Given the description of an element on the screen output the (x, y) to click on. 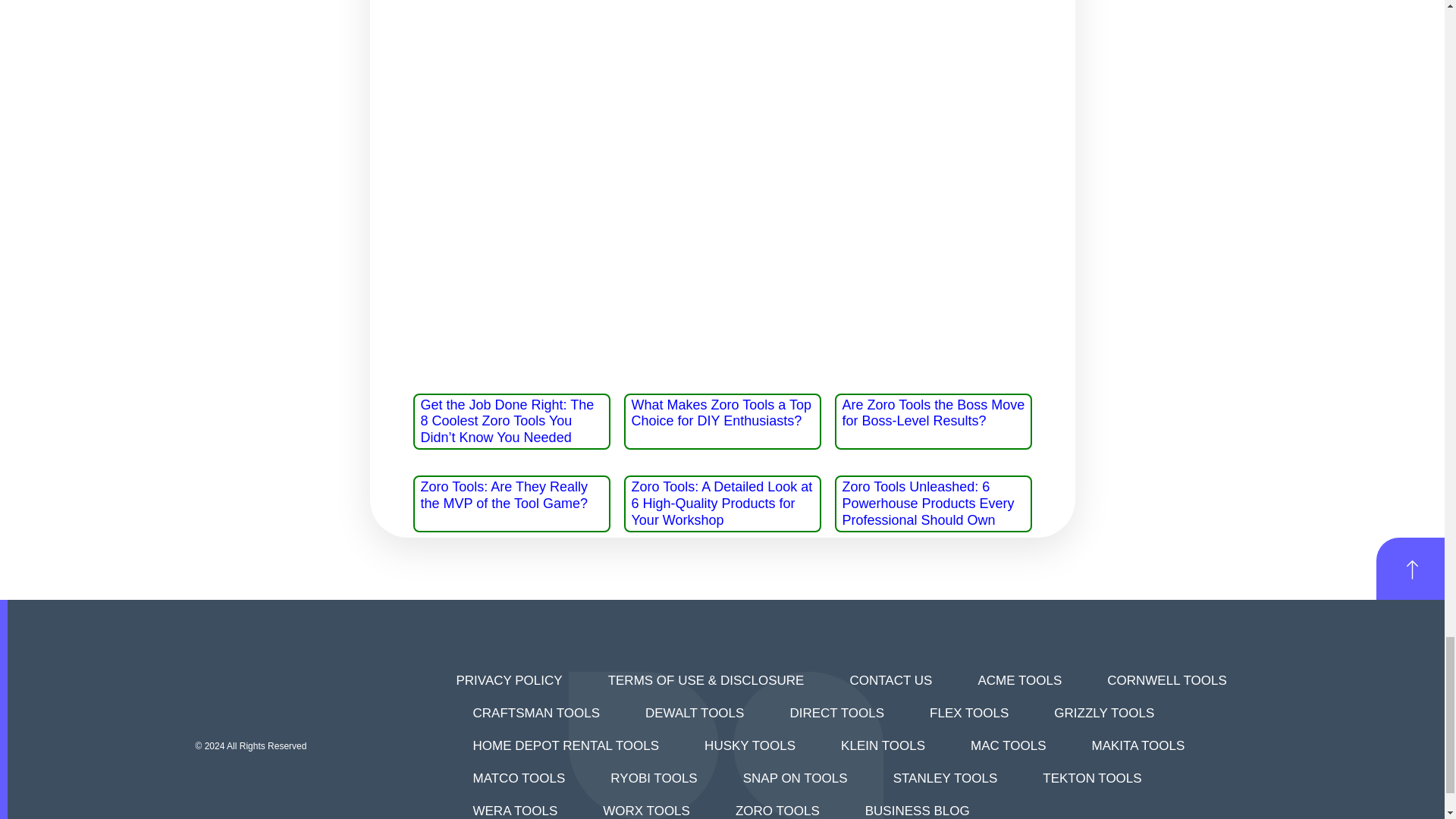
What Makes Zoro Tools a Top Choice for DIY Enthusiasts? (720, 413)
MAC TOOLS (1007, 745)
CORNWELL TOOLS (1165, 680)
BUSINESS BLOG (917, 806)
ACME TOOLS (1019, 680)
ZORO TOOLS (777, 806)
MAKITA TOOLS (1138, 745)
CONTACT US (890, 680)
Zoro Tools: Are They Really the MVP of the Tool Game? (503, 495)
